Given the description of an element on the screen output the (x, y) to click on. 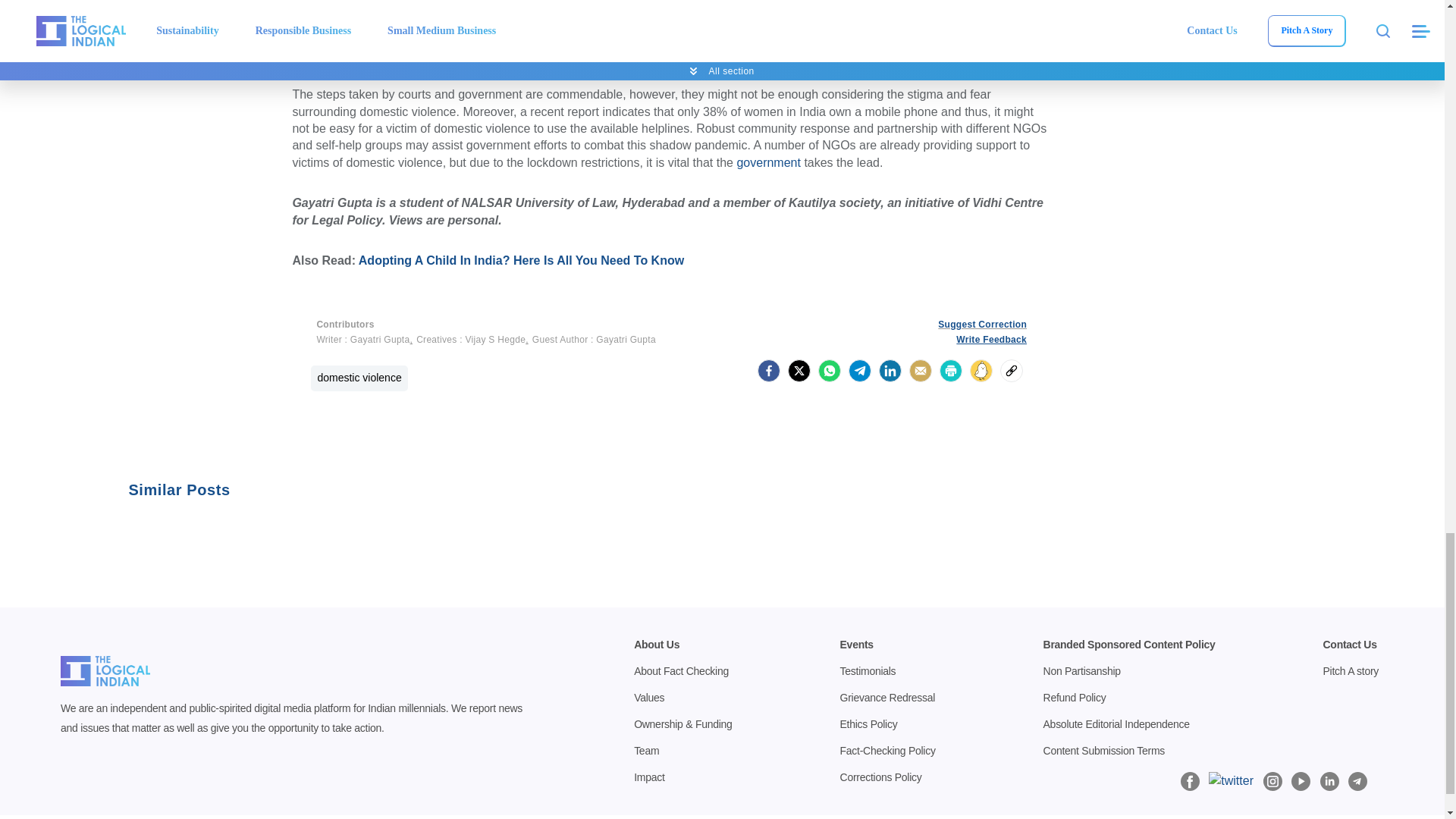
LinkedIn (890, 370)
Share by Email (919, 370)
